Given the description of an element on the screen output the (x, y) to click on. 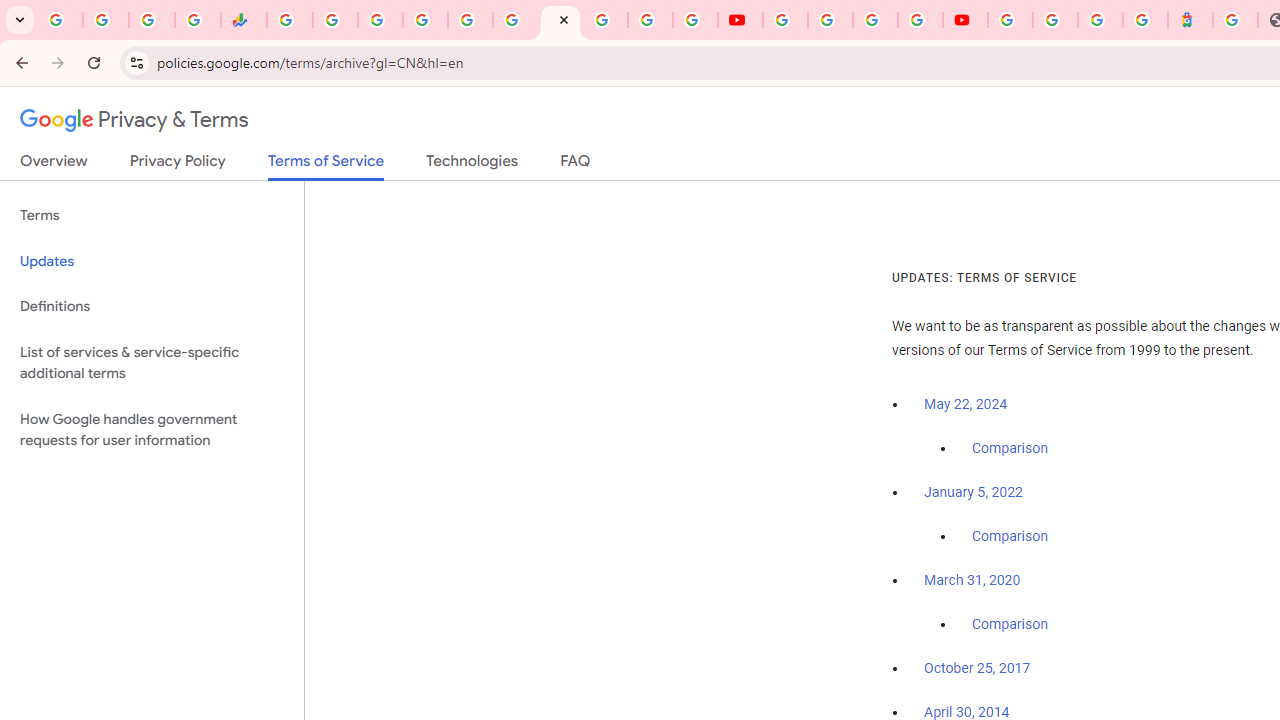
Google Workspace Admin Community (60, 20)
YouTube (784, 20)
Privacy & Terms (134, 120)
Overview (54, 165)
Sign in - Google Accounts (605, 20)
March 31, 2020 (972, 580)
Privacy Checkup (695, 20)
How Google handles government requests for user information (152, 429)
YouTube (740, 20)
